Given the description of an element on the screen output the (x, y) to click on. 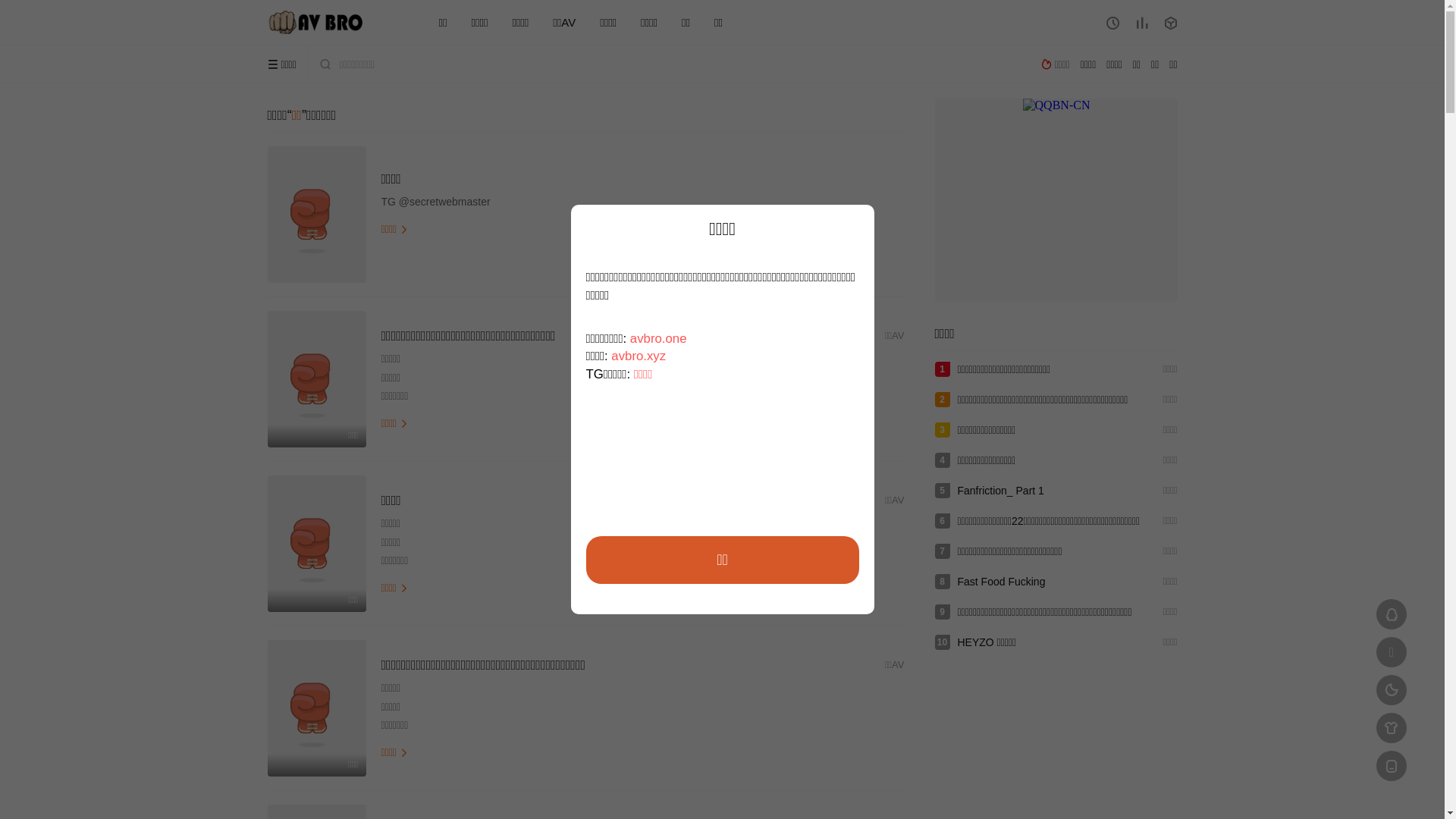
avbro.one Element type: text (658, 338)
avbro.xyz Element type: text (638, 355)
